Given the description of an element on the screen output the (x, y) to click on. 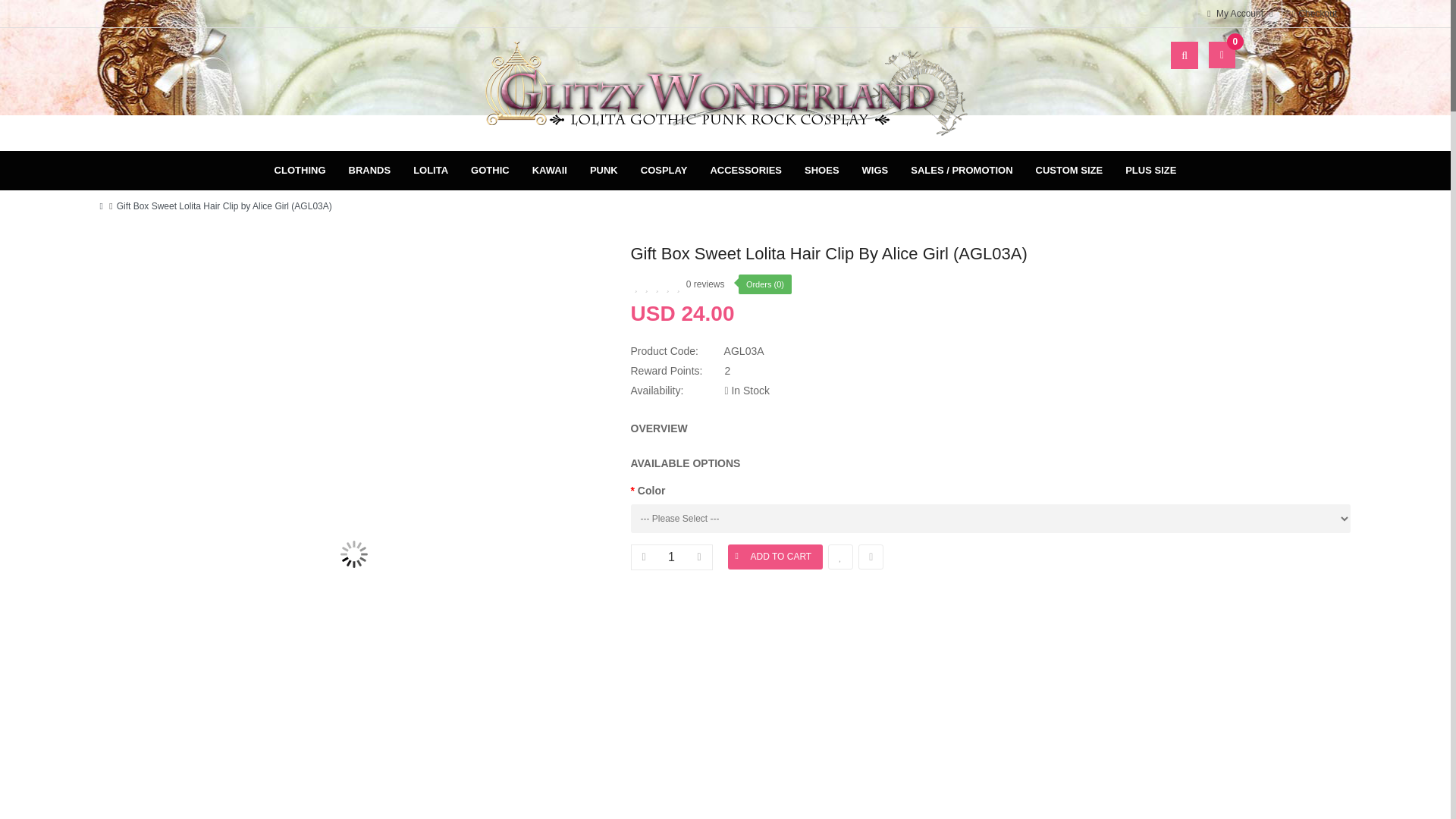
Checkout (1314, 13)
My Account  (1237, 13)
BRANDS (368, 169)
My Account (1237, 13)
1 (671, 557)
Add to Cart (776, 556)
0 (1217, 54)
CLOTHING (300, 169)
Glitzy Wonderland (725, 89)
Checkout  (1314, 13)
